Given the description of an element on the screen output the (x, y) to click on. 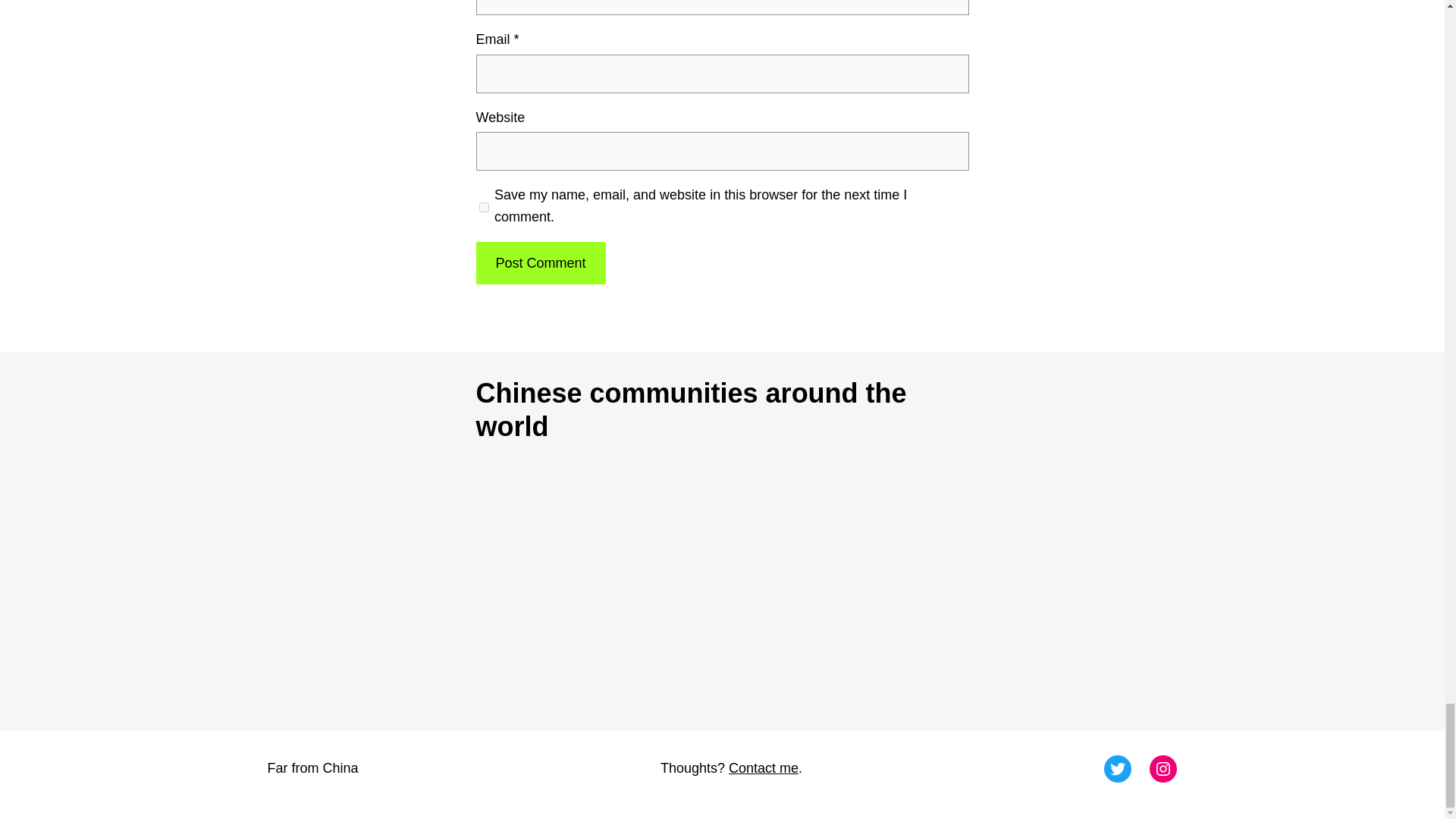
Post Comment (540, 263)
Post Comment (540, 263)
yes (484, 207)
Far from China (312, 767)
Instagram (1163, 768)
Twitter (1117, 768)
Contact me (763, 767)
